Given the description of an element on the screen output the (x, y) to click on. 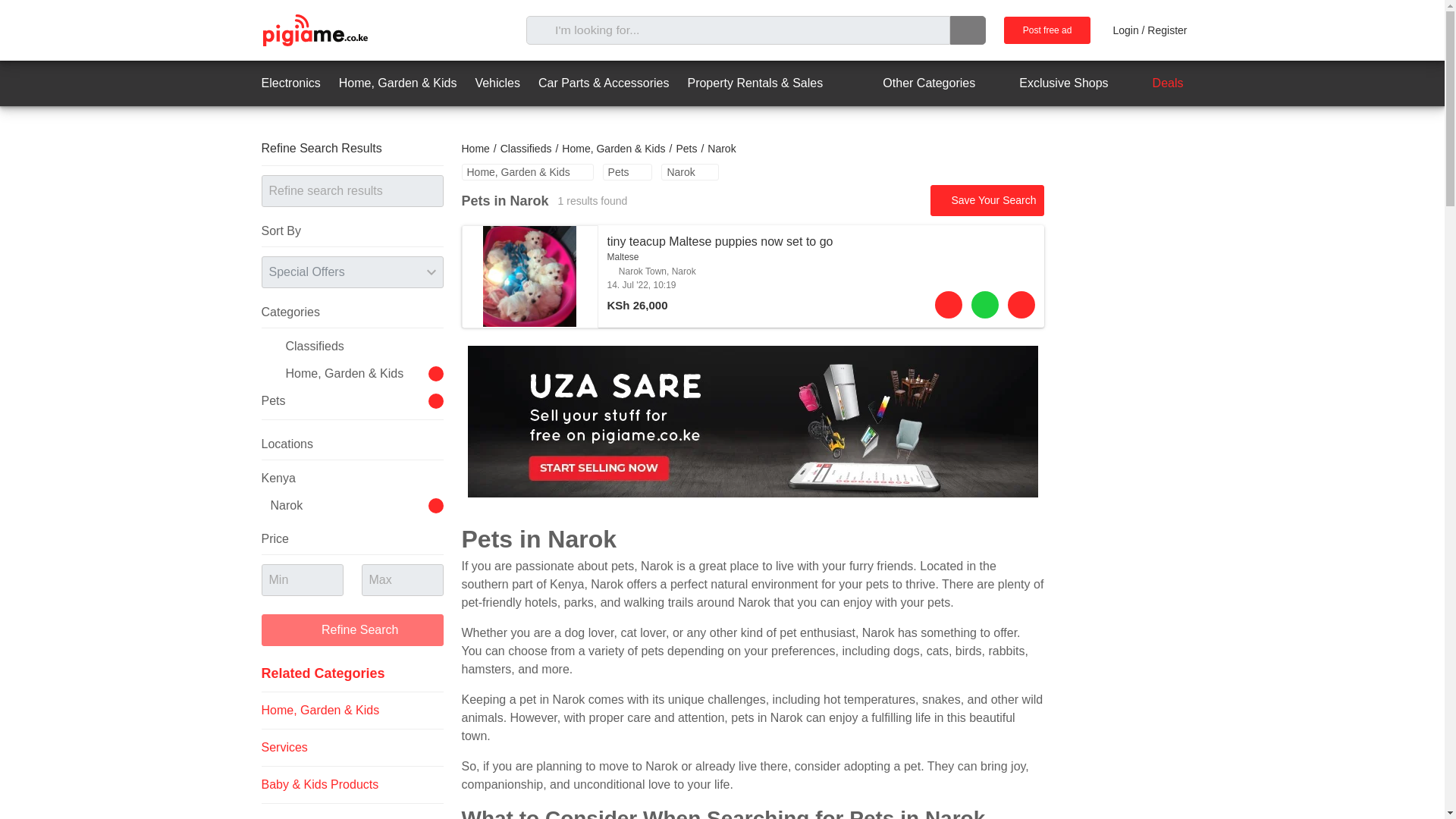
Classifieds (525, 148)
Deals (1155, 83)
Vehicles (497, 83)
Home (475, 148)
Pets (686, 148)
Electronics (290, 83)
Other Categories (915, 83)
Pets (627, 171)
Narok (689, 171)
